Given the description of an element on the screen output the (x, y) to click on. 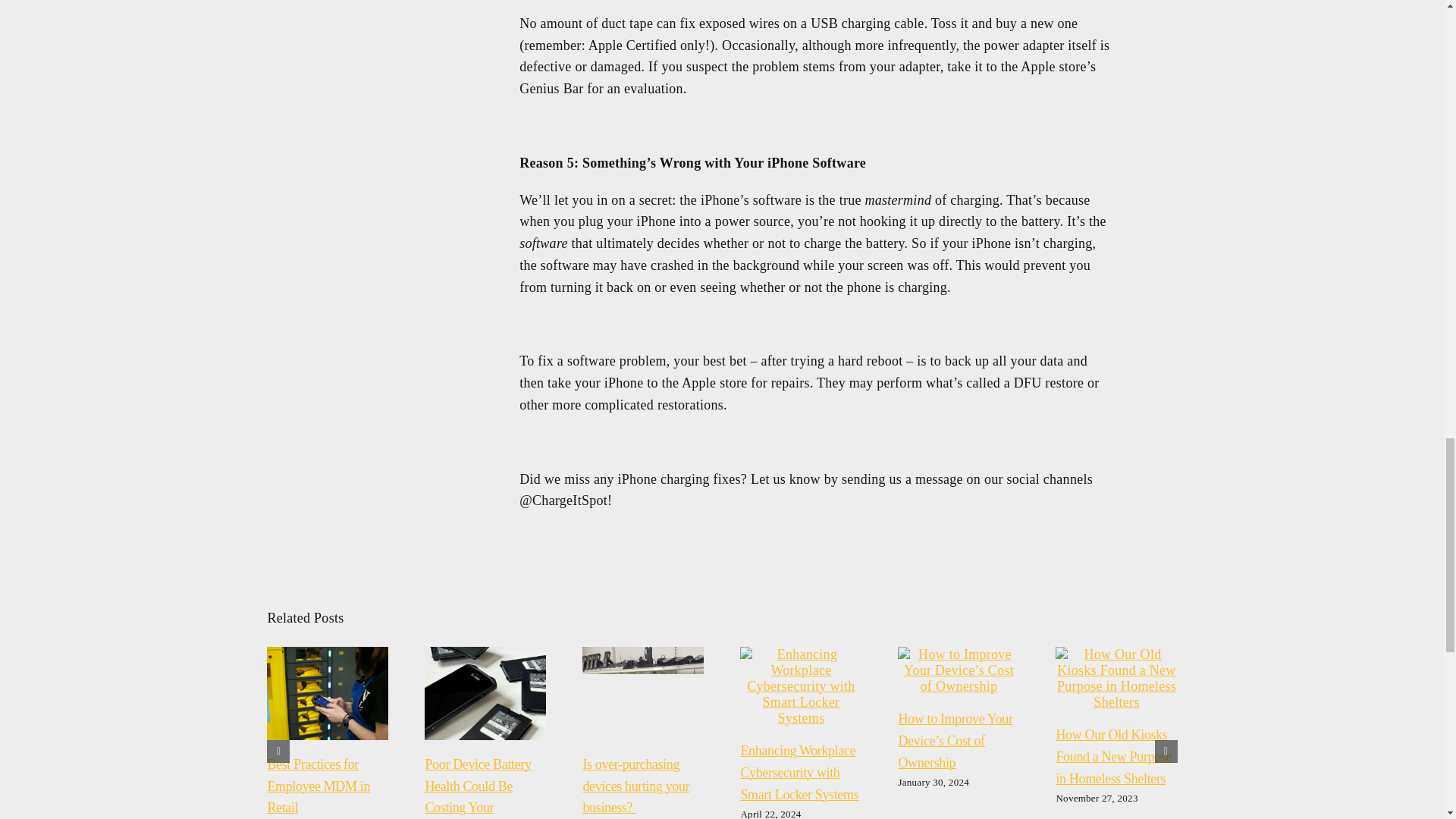
Best Practices for Employee MDM in Retail (317, 785)
Poor Device Battery Health Could Be Costing Your Business  (478, 787)
Enhancing Workplace Cybersecurity with Smart Locker Systems (799, 772)
Best Practices for Employee MDM in Retail (317, 785)
How Our Old Kiosks Found a New Purpose in Homeless Shelters (1113, 756)
Enhancing Workplace Cybersecurity with Smart Locker Systems (799, 772)
How Our Old Kiosks Found a New Purpose in Homeless Shelters (1113, 756)
Is over-purchasing devices hurting your business?  (635, 785)
